Given the description of an element on the screen output the (x, y) to click on. 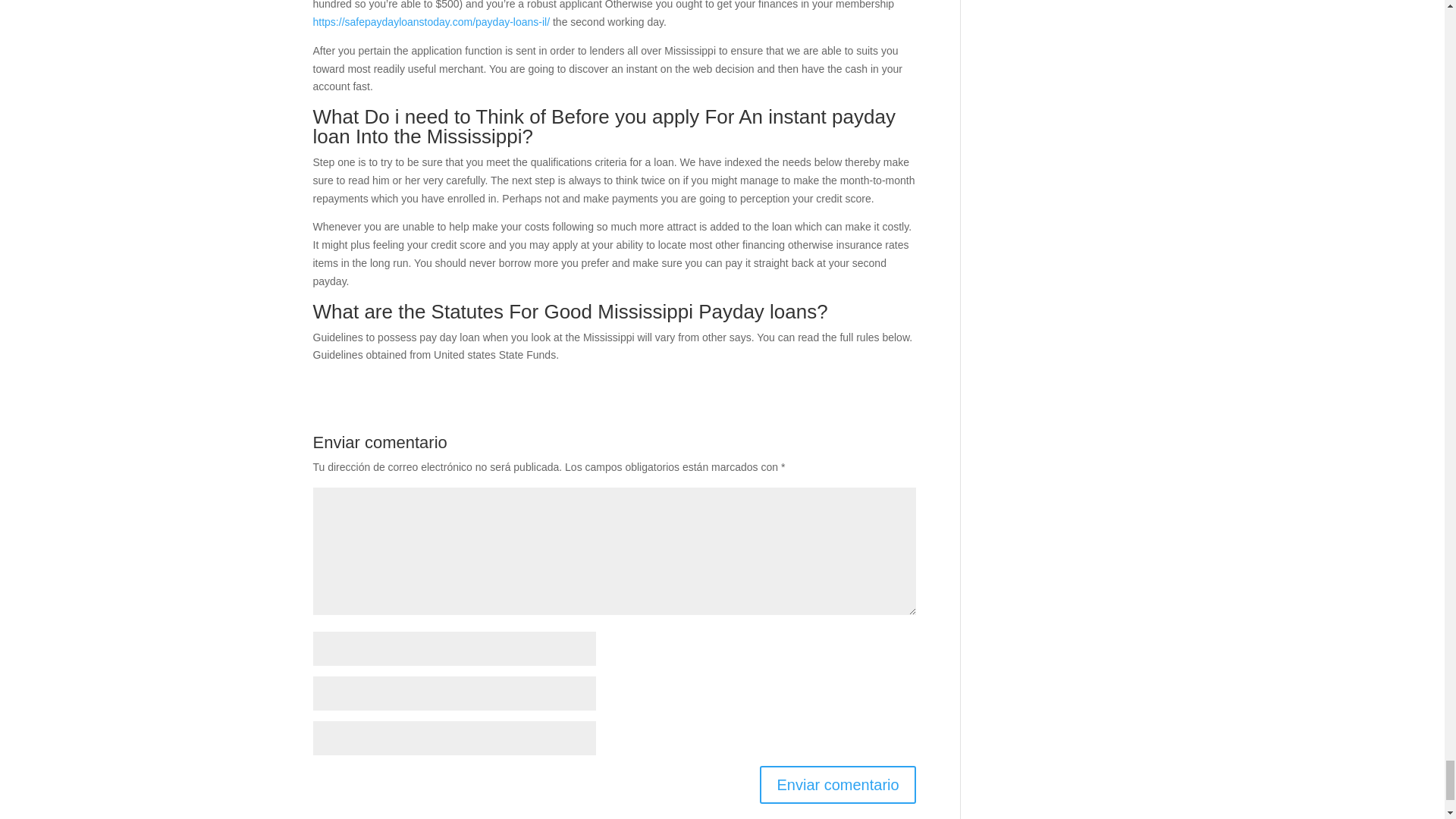
Enviar comentario (837, 784)
